Given the description of an element on the screen output the (x, y) to click on. 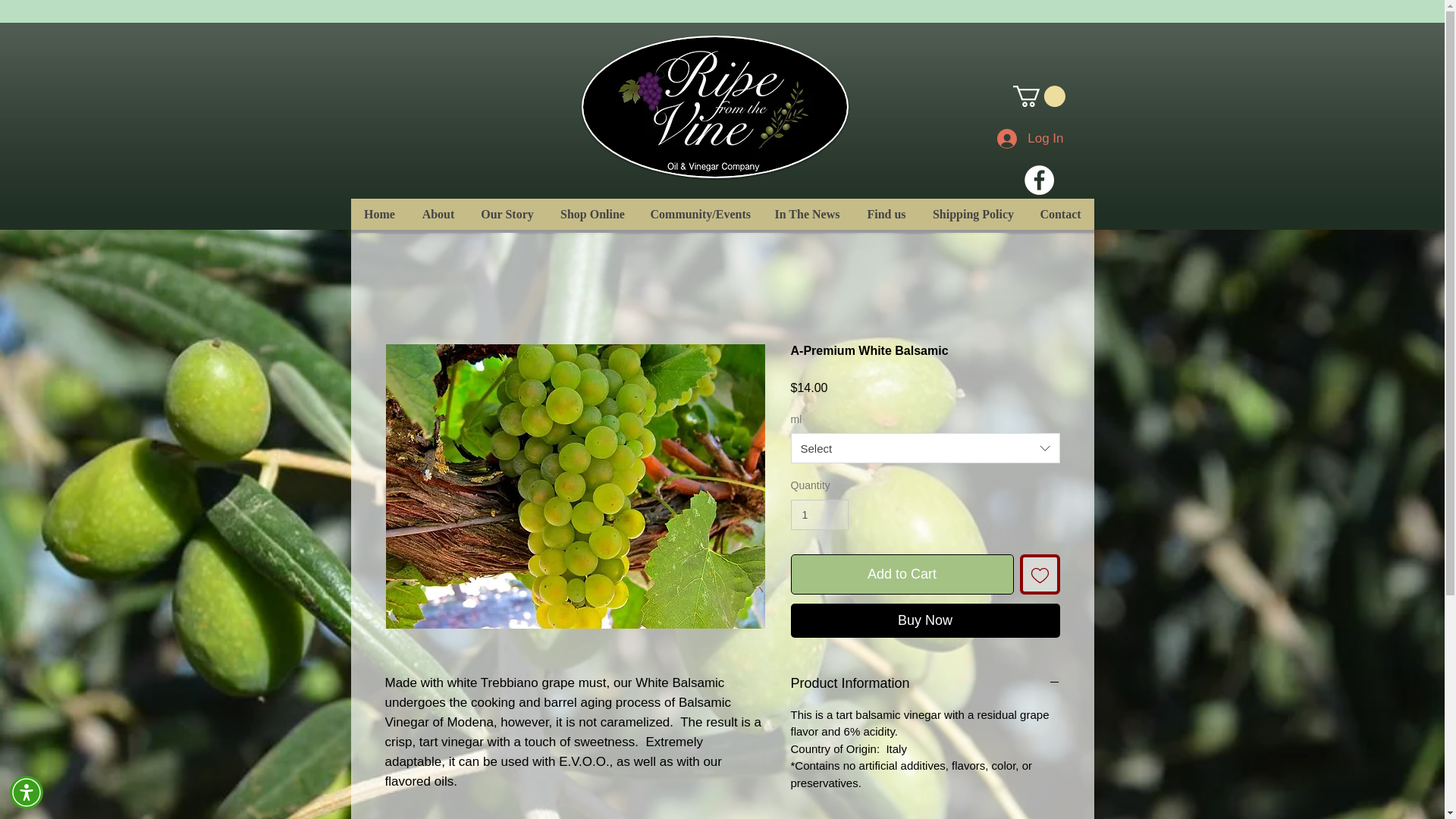
1 (818, 514)
Accessibility Menu (26, 792)
Home (378, 214)
Buy Now (924, 620)
Contact (1060, 214)
Product Information (924, 683)
In The News (807, 214)
Log In (1030, 138)
Our Story (506, 214)
Select (924, 448)
Shipping Policy (972, 214)
Find us (884, 214)
Add to Cart (901, 574)
